Given the description of an element on the screen output the (x, y) to click on. 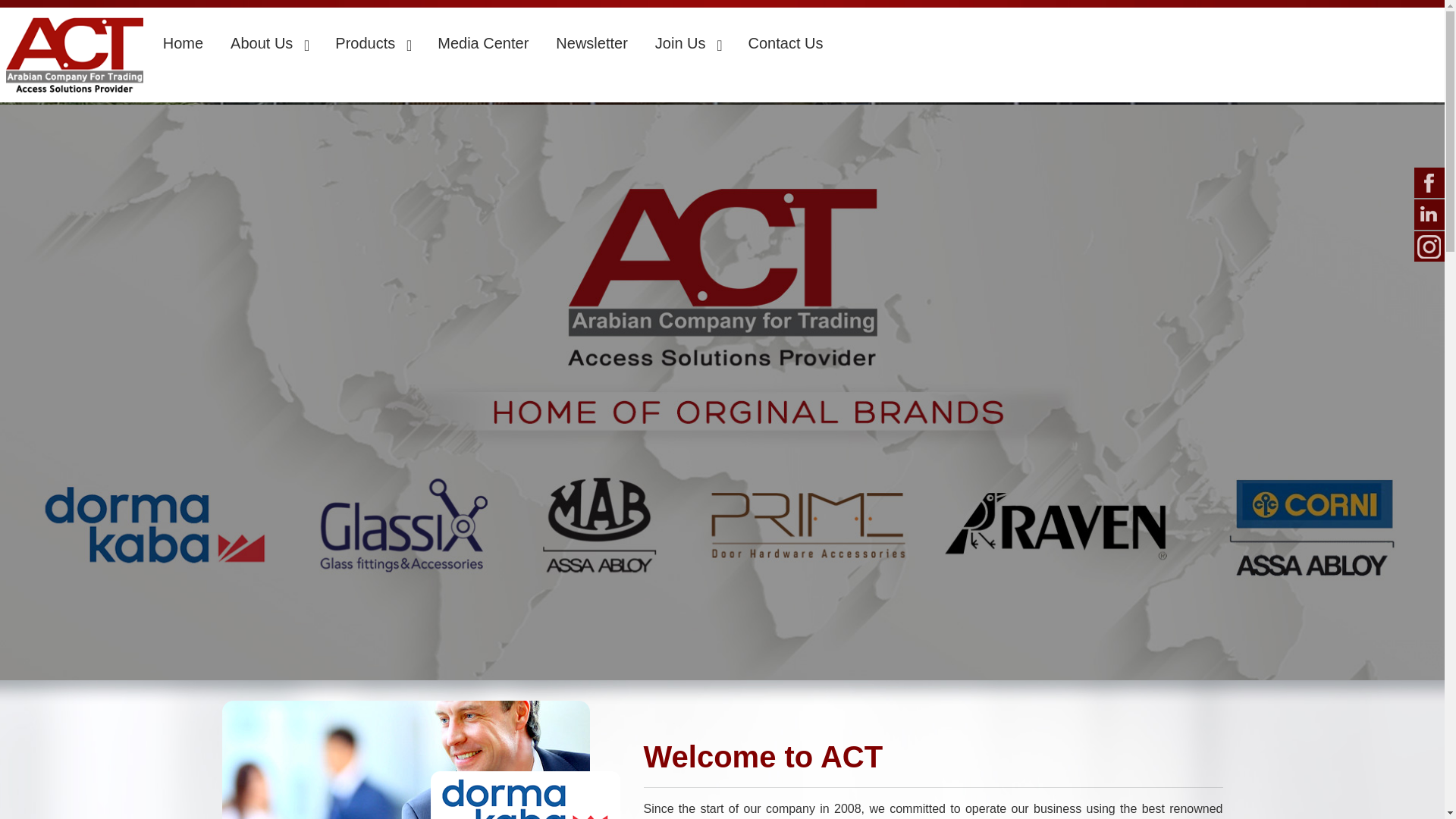
About Us (268, 42)
Home (182, 42)
Products (372, 42)
